Given the description of an element on the screen output the (x, y) to click on. 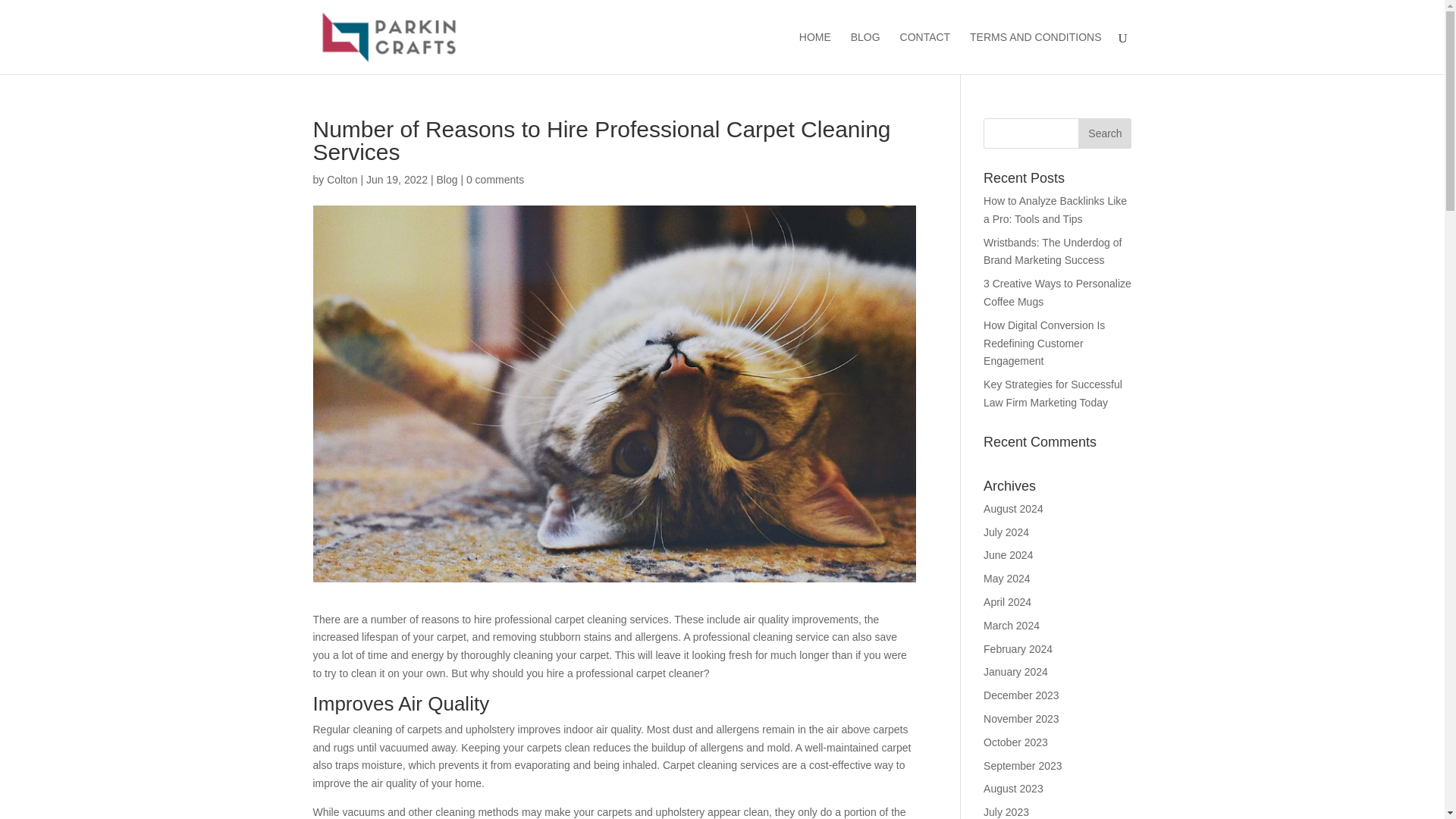
How Digital Conversion Is Redefining Customer Engagement (1044, 343)
How to Analyze Backlinks Like a Pro: Tools and Tips (1055, 209)
Wristbands: The Underdog of Brand Marketing Success (1052, 251)
Posts by Colton (341, 179)
Colton (341, 179)
January 2024 (1016, 671)
April 2024 (1007, 602)
July 2024 (1006, 532)
CONTACT (924, 52)
November 2023 (1021, 718)
